Given the description of an element on the screen output the (x, y) to click on. 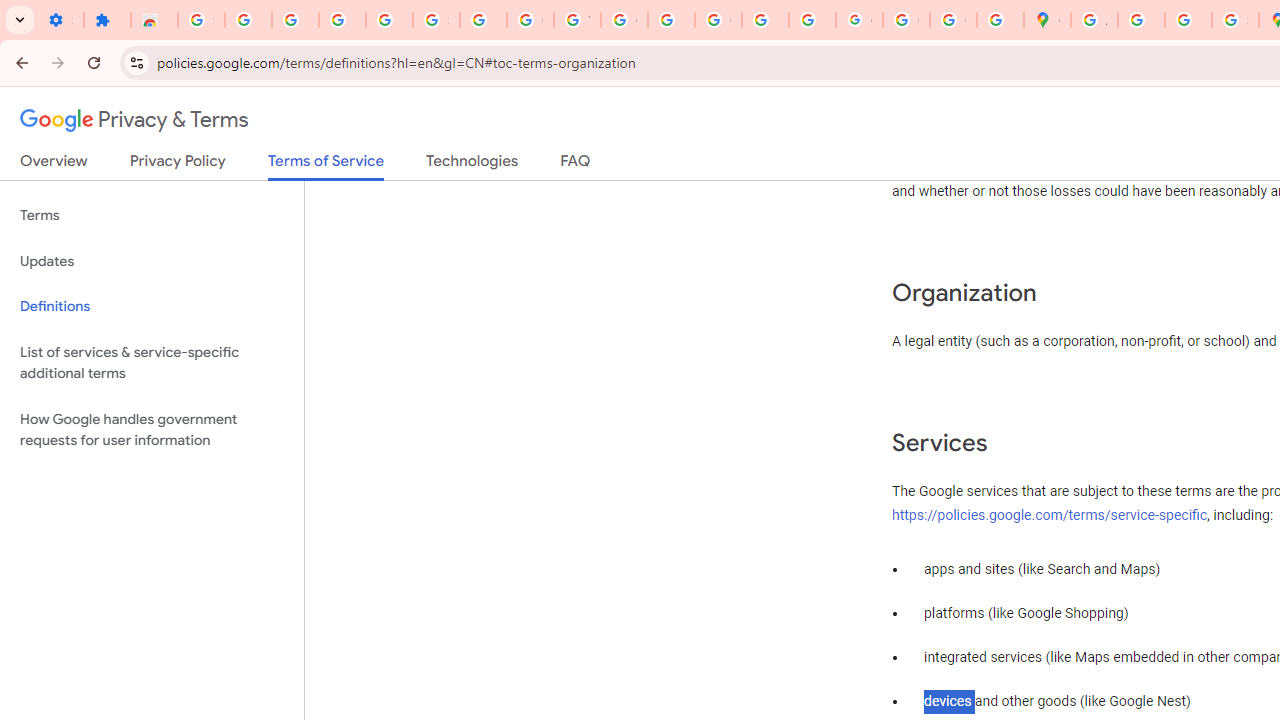
Sign in - Google Accounts (201, 20)
Sign in - Google Accounts (436, 20)
Google Maps (1047, 20)
Settings - On startup (60, 20)
